Given the description of an element on the screen output the (x, y) to click on. 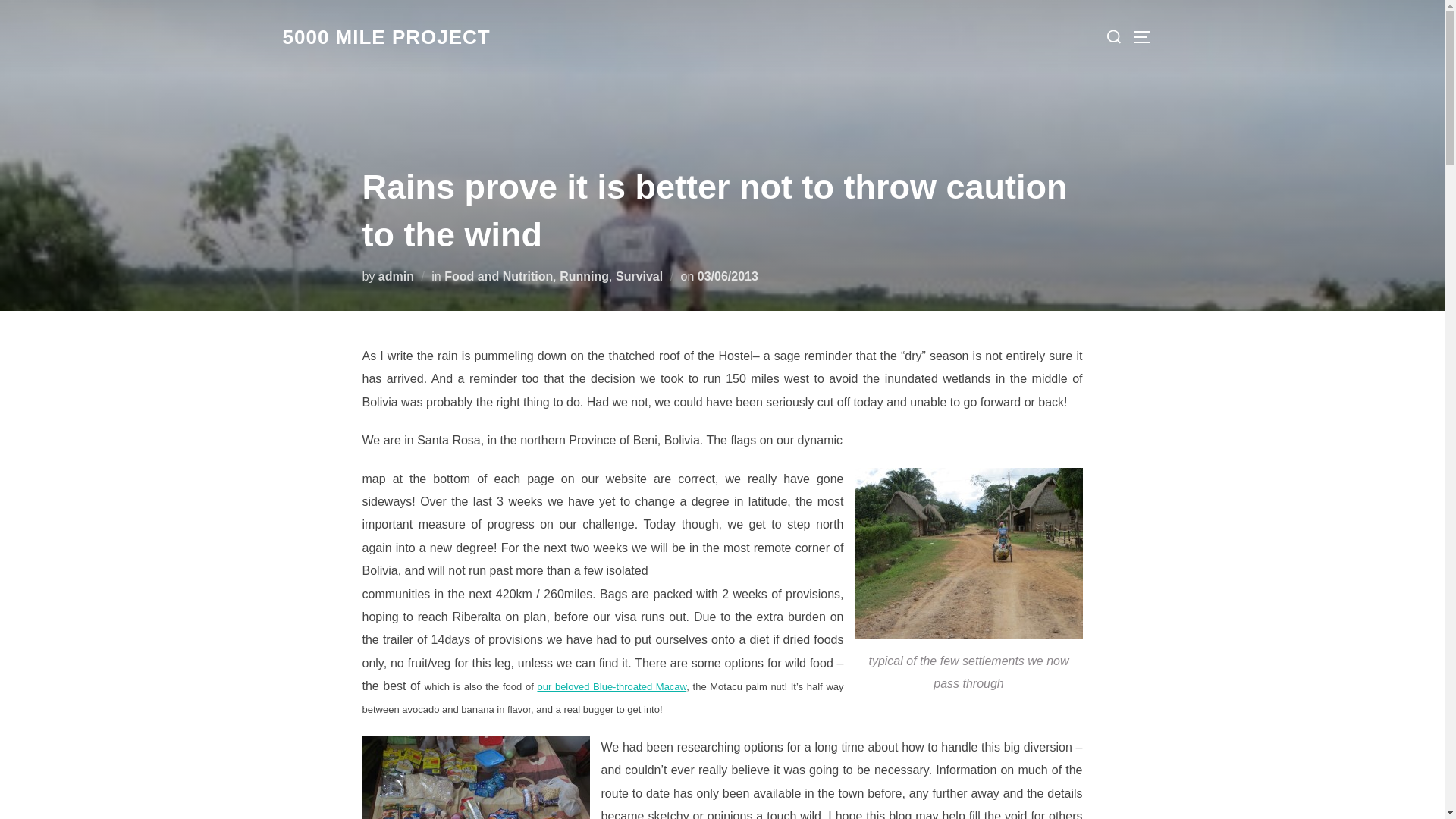
A break from running; time to find our parrot (611, 686)
